Given the description of an element on the screen output the (x, y) to click on. 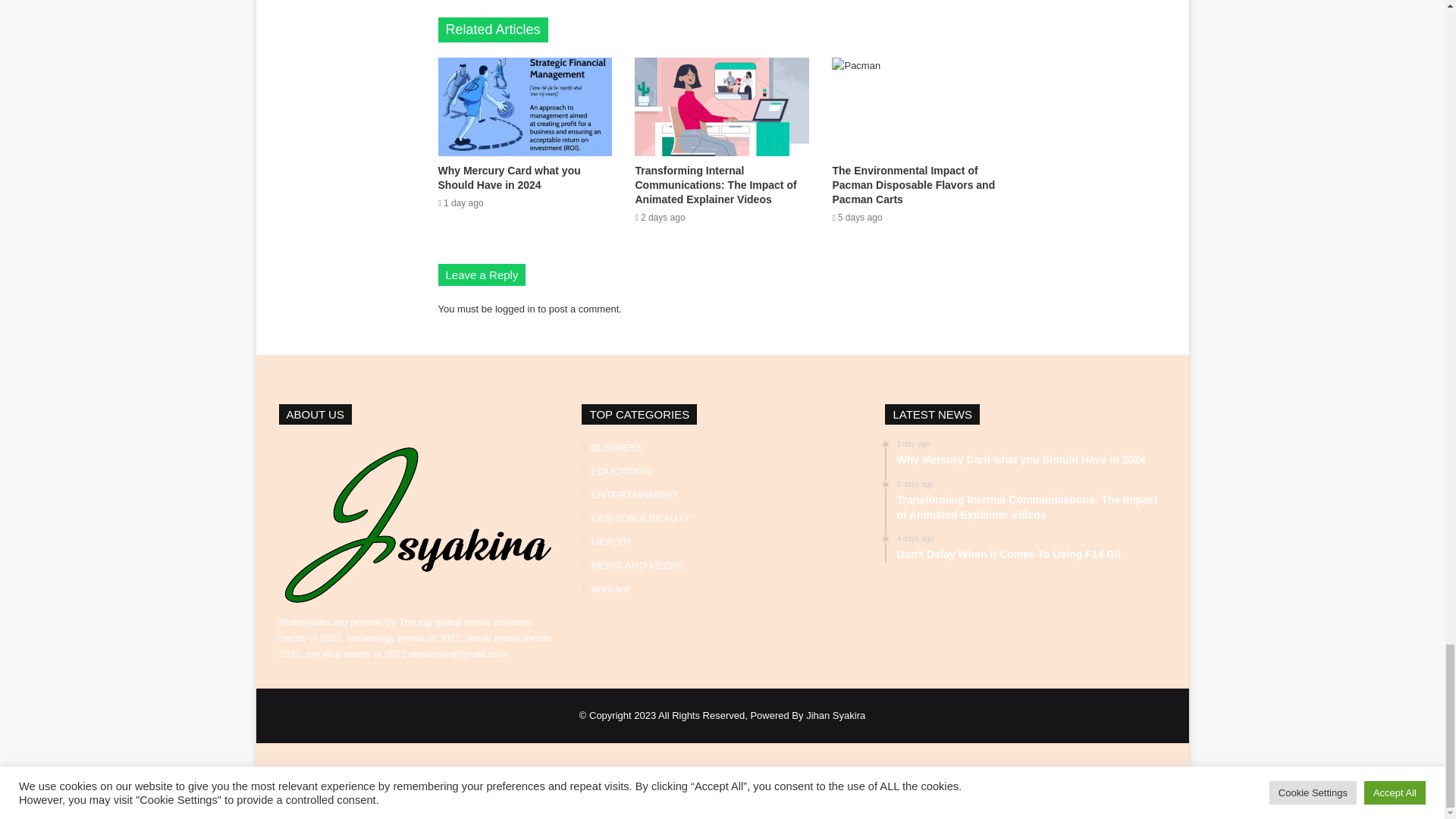
Why Mercury Card what you Should Have in 2024 (509, 177)
